Given the description of an element on the screen output the (x, y) to click on. 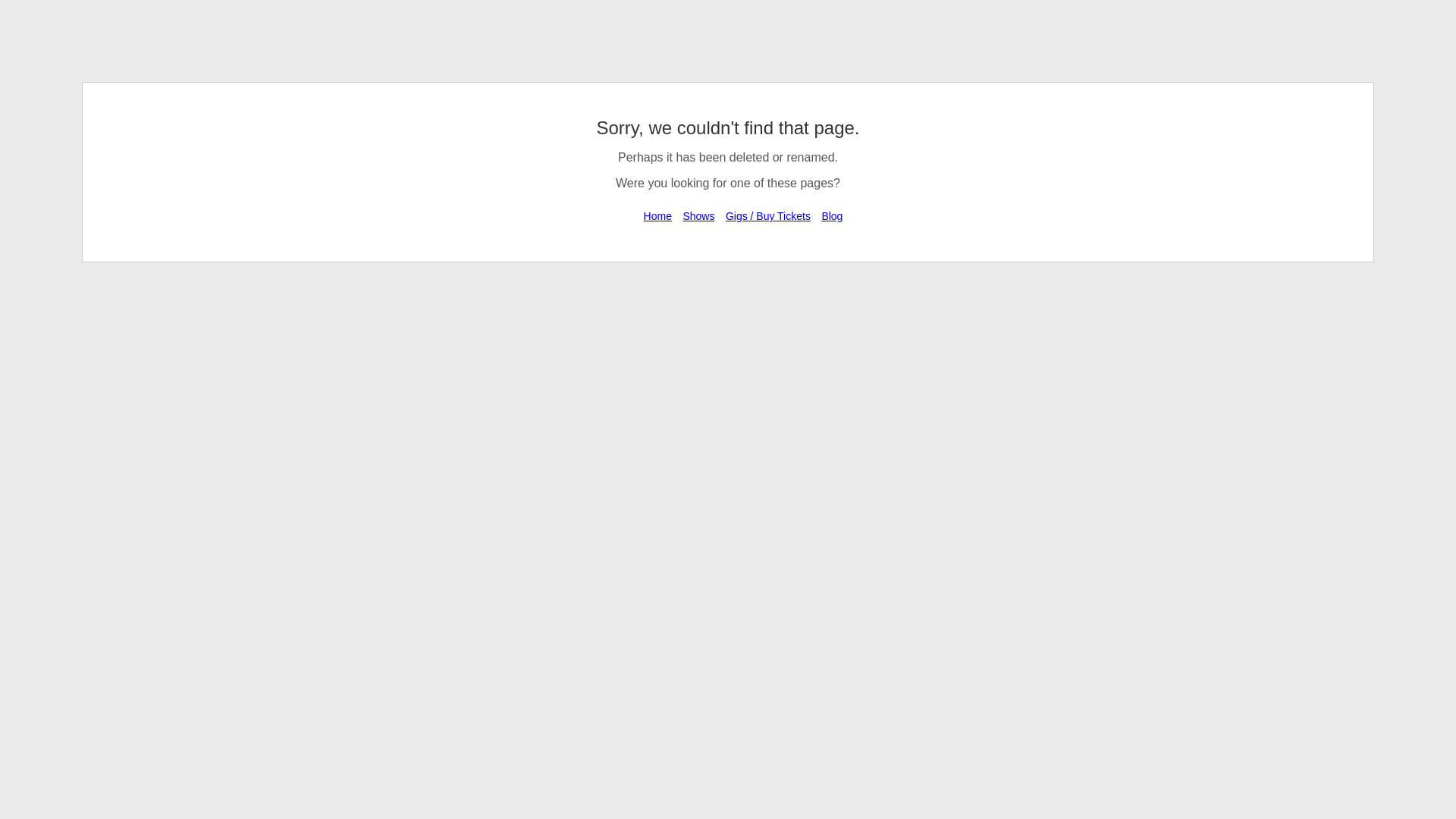
Gigs / Buy Tickets Element type: text (767, 216)
Shows Element type: text (698, 216)
Home Element type: text (657, 216)
Blog Element type: text (831, 216)
